Given the description of an element on the screen output the (x, y) to click on. 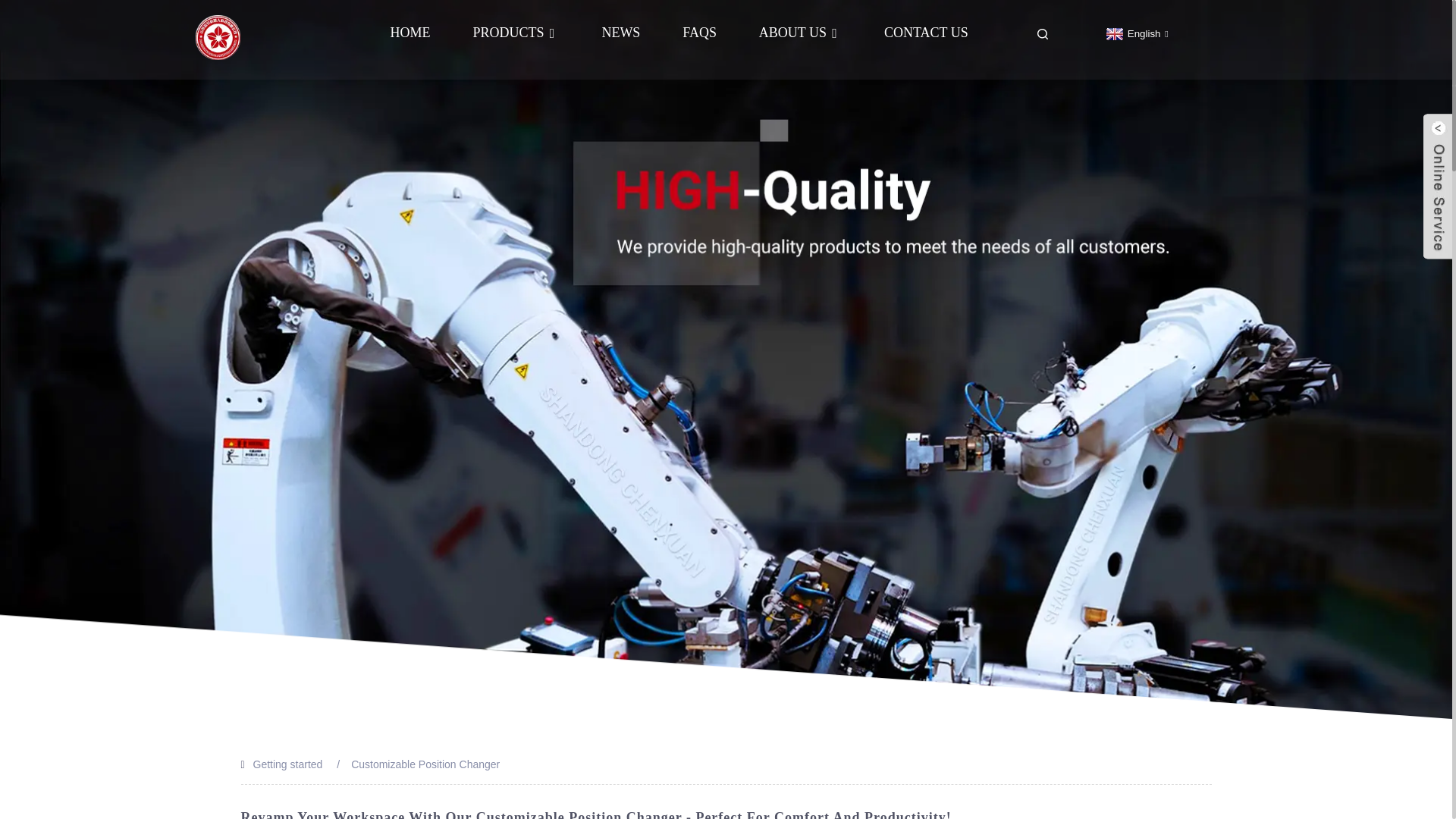
CONTACT US (925, 32)
Customizable Position Changer (424, 764)
NEWS (620, 32)
English (1135, 33)
ABOUT US (799, 32)
FAQS (699, 32)
HOME (410, 32)
English (1135, 33)
Getting started (288, 764)
PRODUCTS (515, 32)
